Given the description of an element on the screen output the (x, y) to click on. 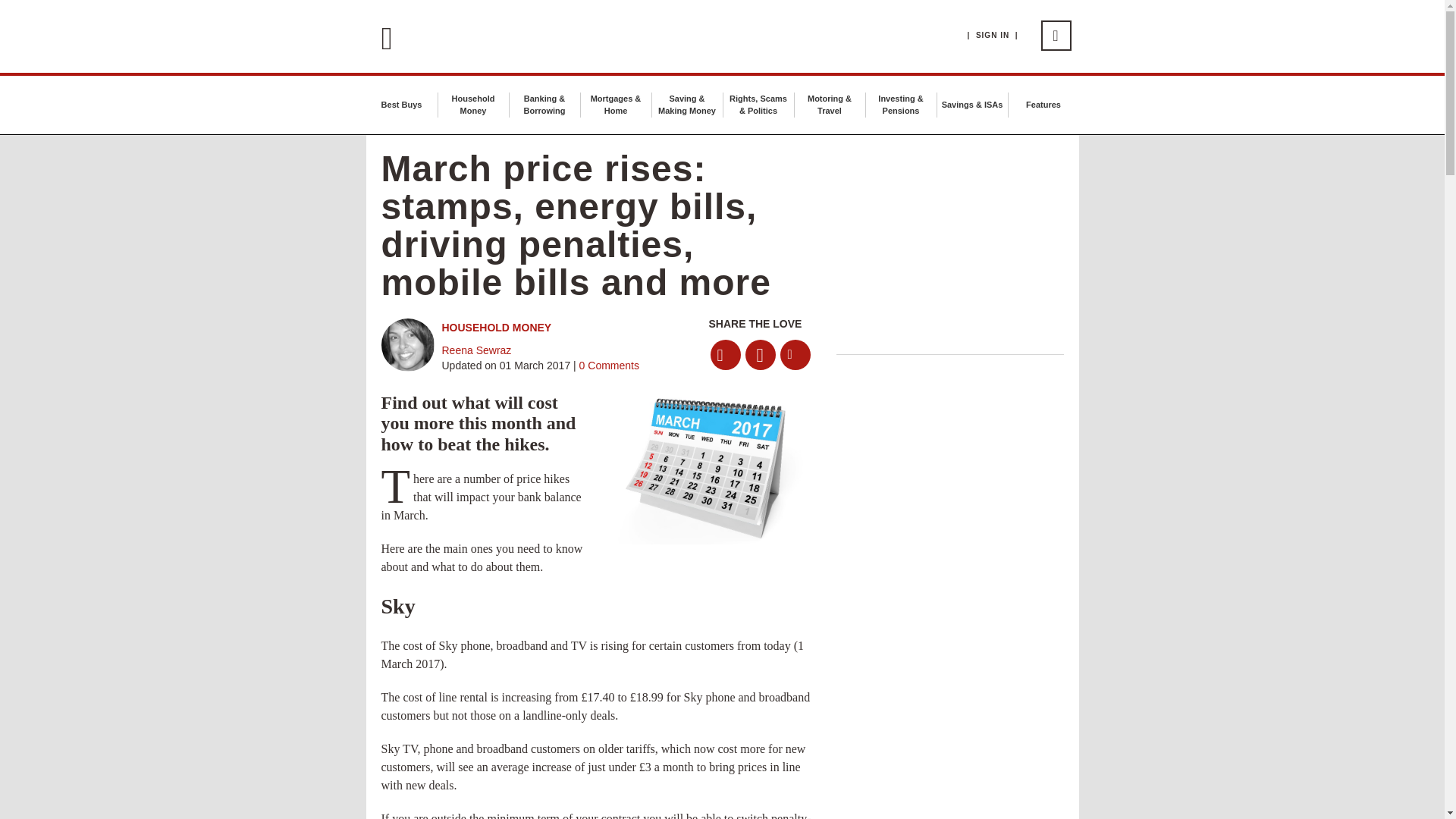
Best Buys (401, 104)
Reena Sewraz (476, 349)
Household Money (472, 104)
Features (1043, 104)
0 Comments (607, 365)
HOUSEHOLD MONEY (496, 327)
